Given the description of an element on the screen output the (x, y) to click on. 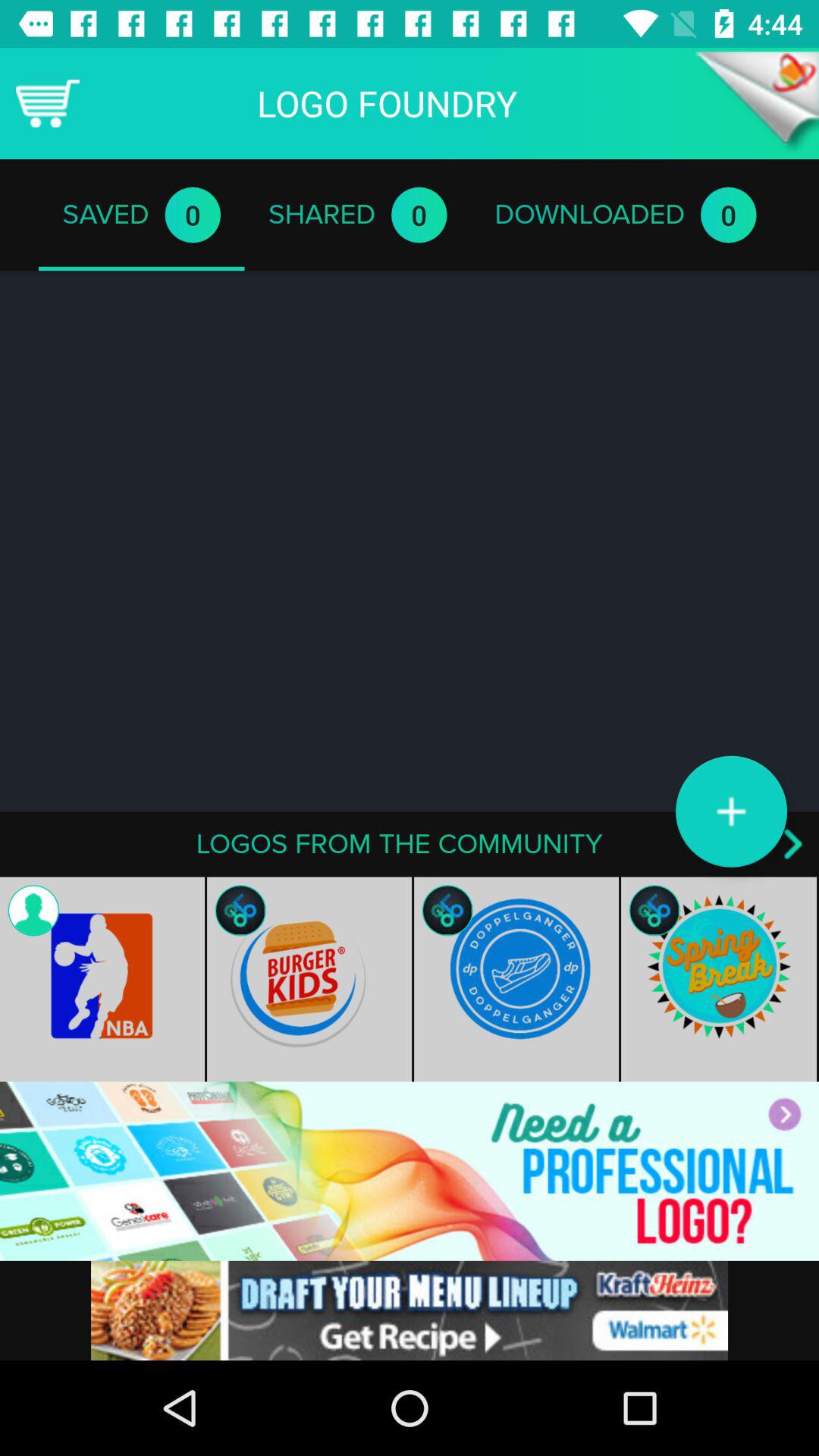
sopping symbol (47, 103)
